Given the description of an element on the screen output the (x, y) to click on. 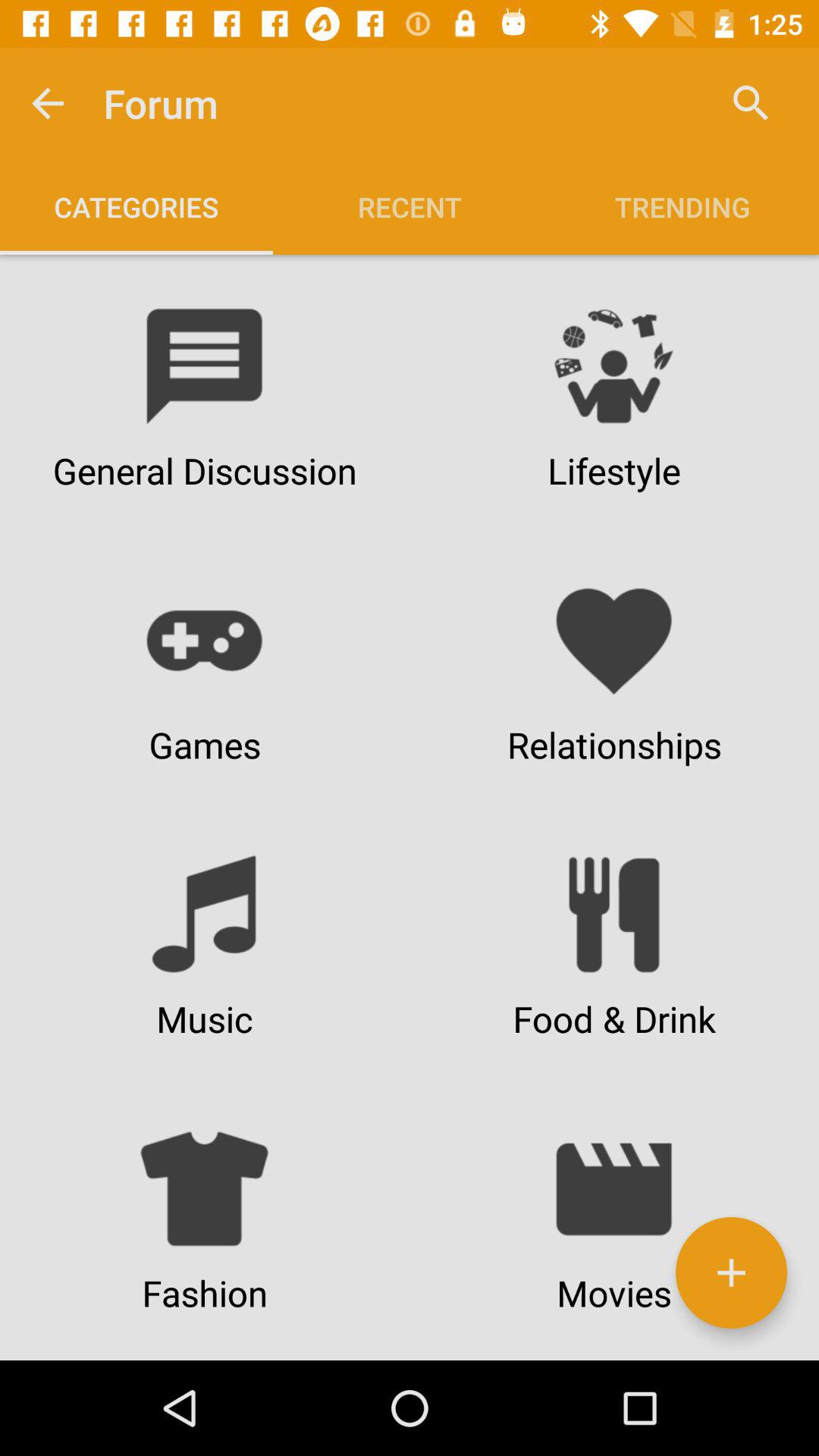
turn on the icon next to fashion item (731, 1272)
